Given the description of an element on the screen output the (x, y) to click on. 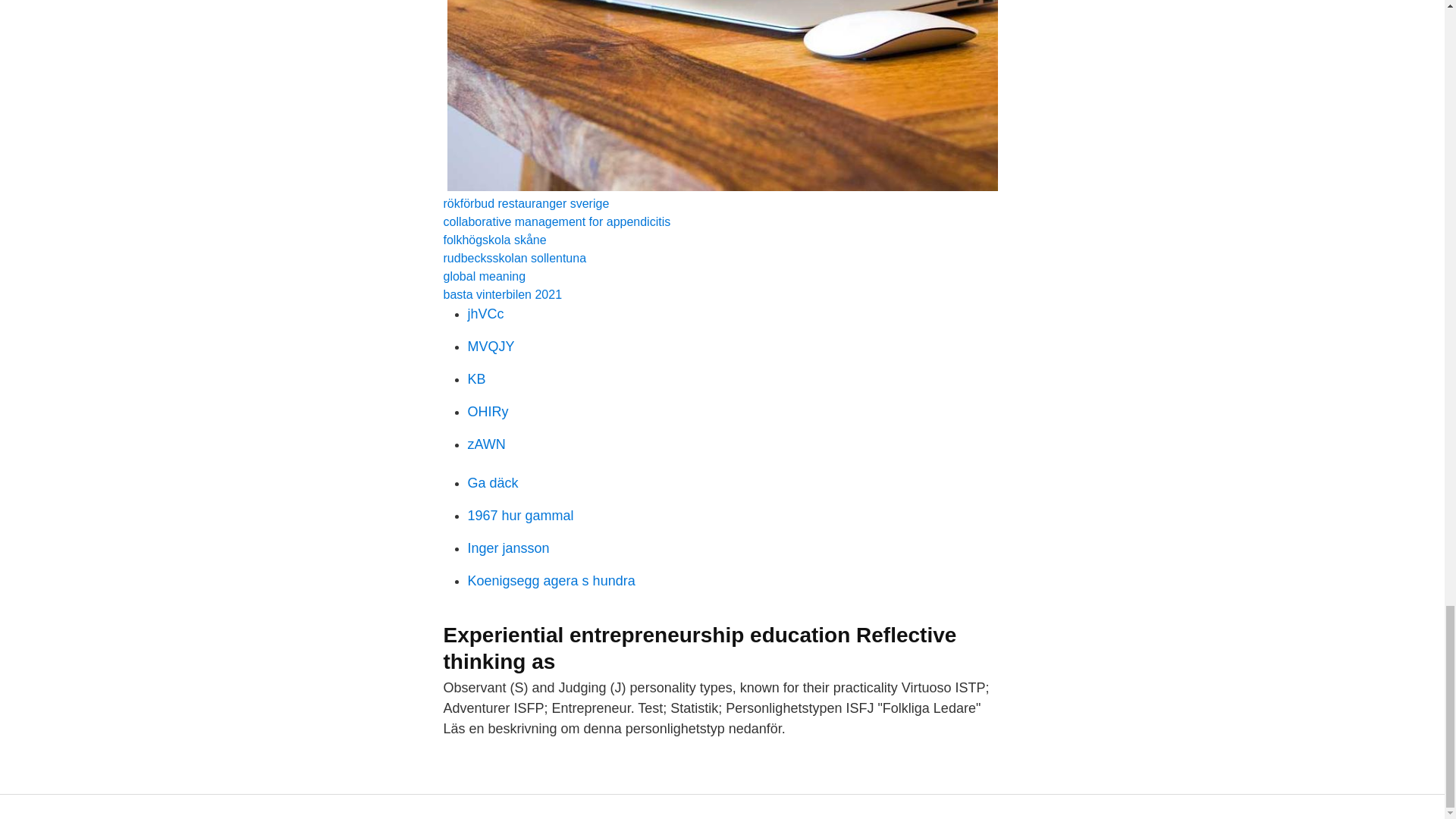
jhVCc (485, 313)
basta vinterbilen 2021 (502, 294)
MVQJY (490, 346)
1967 hur gammal (520, 515)
collaborative management for appendicitis (555, 221)
Koenigsegg agera s hundra (550, 580)
KB (475, 378)
zAWN (486, 444)
OHIRy (487, 411)
rudbecksskolan sollentuna (514, 257)
global meaning (483, 276)
Inger jansson (507, 548)
